Given the description of an element on the screen output the (x, y) to click on. 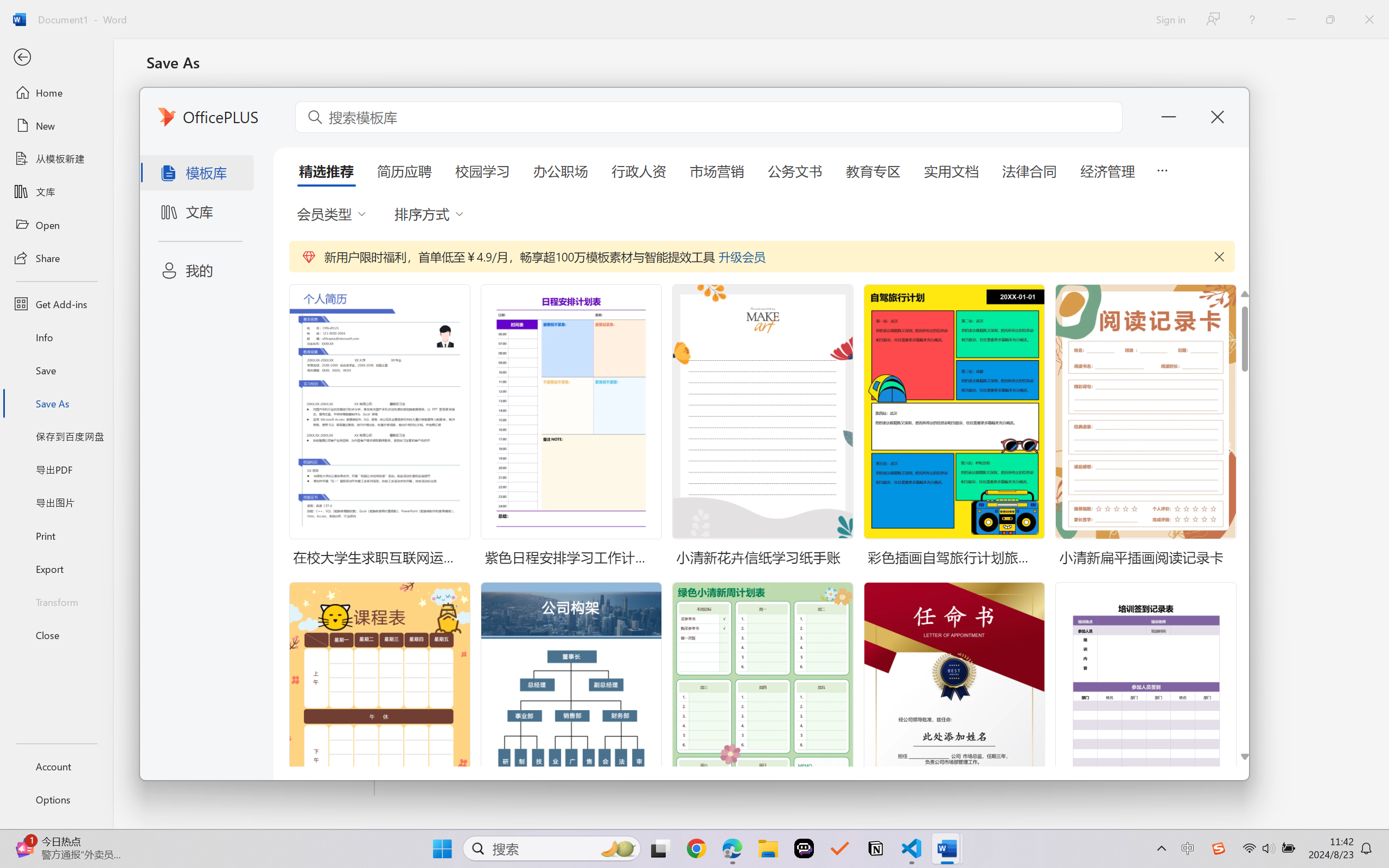
Info (56, 337)
